Given the description of an element on the screen output the (x, y) to click on. 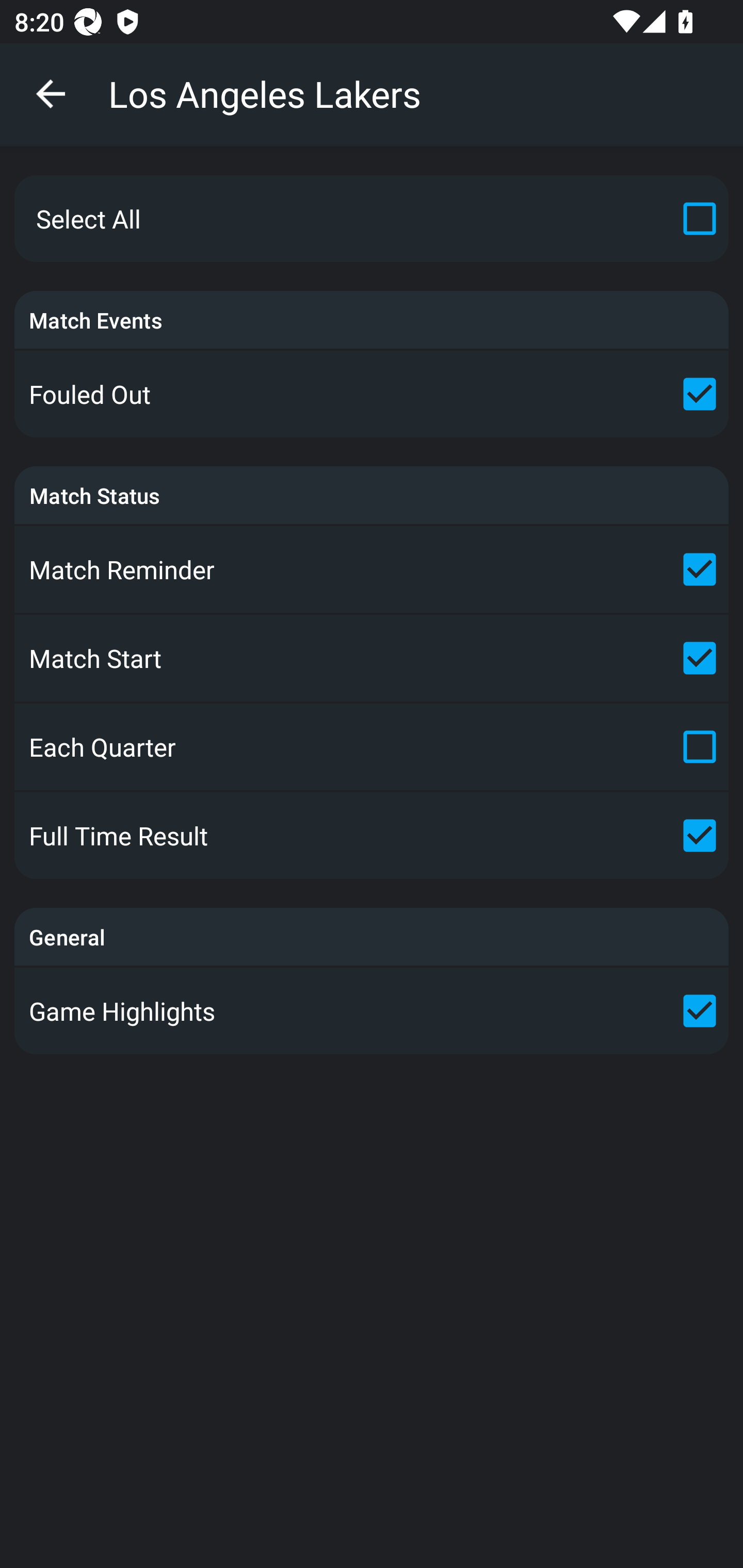
Navigate up (50, 93)
Fouled Out (371, 394)
Match Reminder (371, 569)
Match Start (371, 657)
Each Quarter (371, 747)
Full Time Result (371, 835)
Game Highlights (371, 1010)
